Given the description of an element on the screen output the (x, y) to click on. 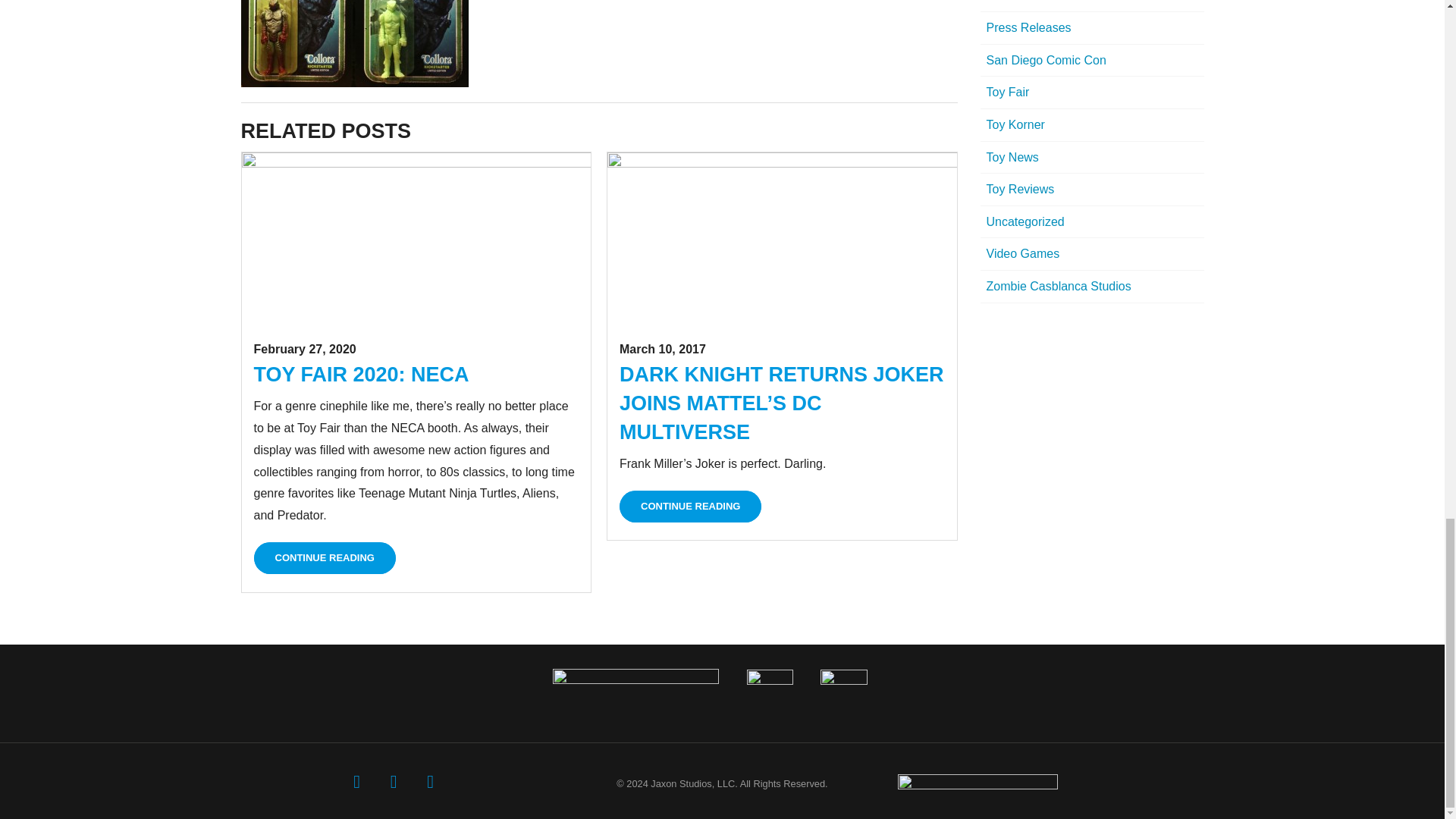
CONTINUE READING (323, 558)
TOY FAIR 2020: NECA (360, 374)
CONTINUE READING (690, 506)
